Given the description of an element on the screen output the (x, y) to click on. 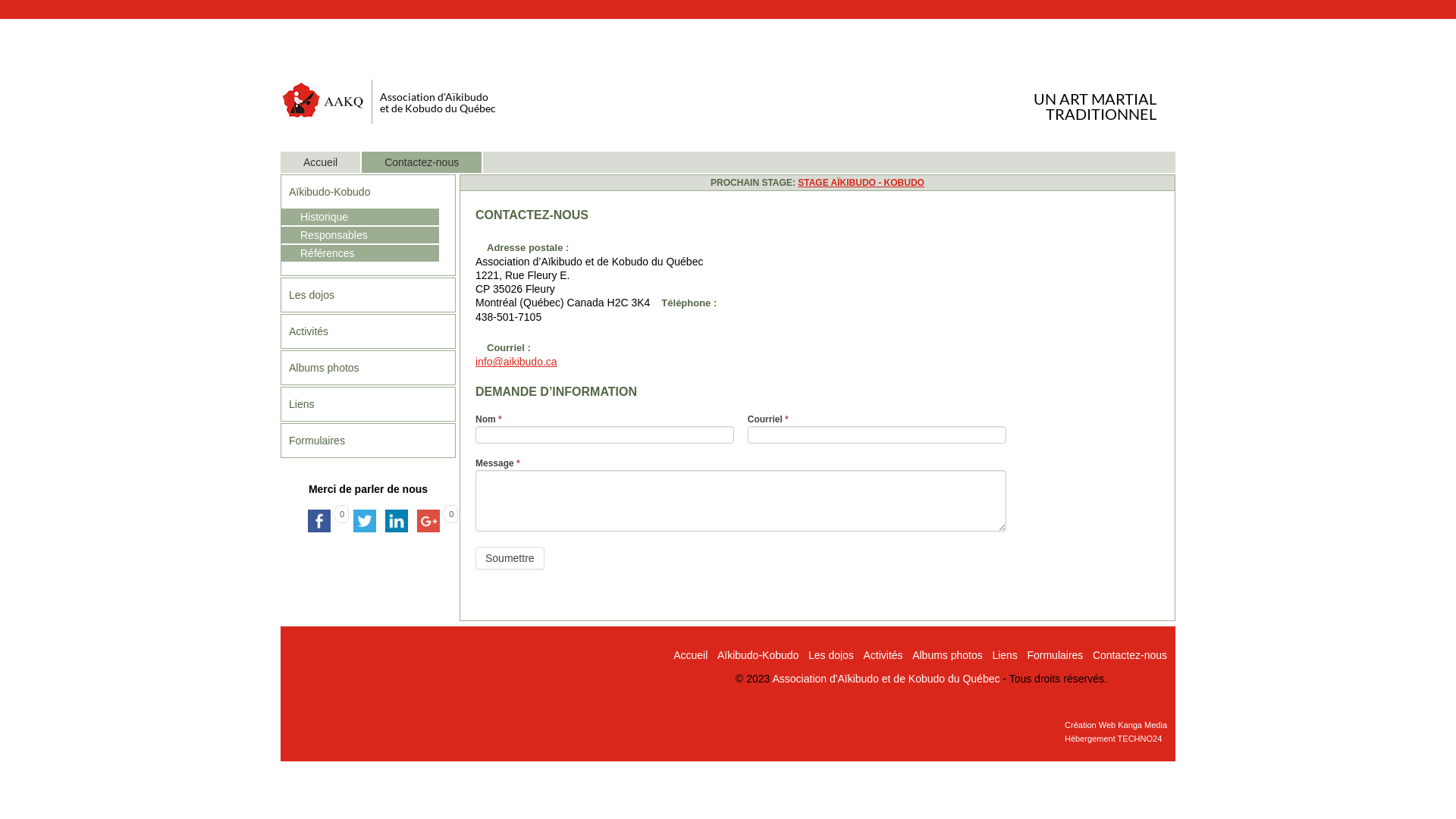
Albums photos Element type: text (368, 367)
Soumettre Element type: text (509, 557)
Albums photos Element type: text (942, 655)
Twitter Element type: hover (364, 520)
Liens Element type: text (999, 655)
Les dojos Element type: text (368, 294)
Accueil Element type: text (686, 655)
Responsables Element type: text (360, 234)
Historique Element type: text (360, 216)
info@aikibudo.ca Element type: text (516, 361)
Les dojos Element type: text (825, 655)
LinkedIn Element type: hover (396, 520)
Liens Element type: text (368, 403)
Facebook Element type: hover (319, 520)
Formulaires Element type: text (1050, 655)
Accueil Element type: text (342, 161)
Contactez-nous Element type: text (1124, 655)
Contactez-nous Element type: text (444, 161)
Google+ Element type: hover (428, 520)
Formulaires Element type: text (368, 440)
